Given the description of an element on the screen output the (x, y) to click on. 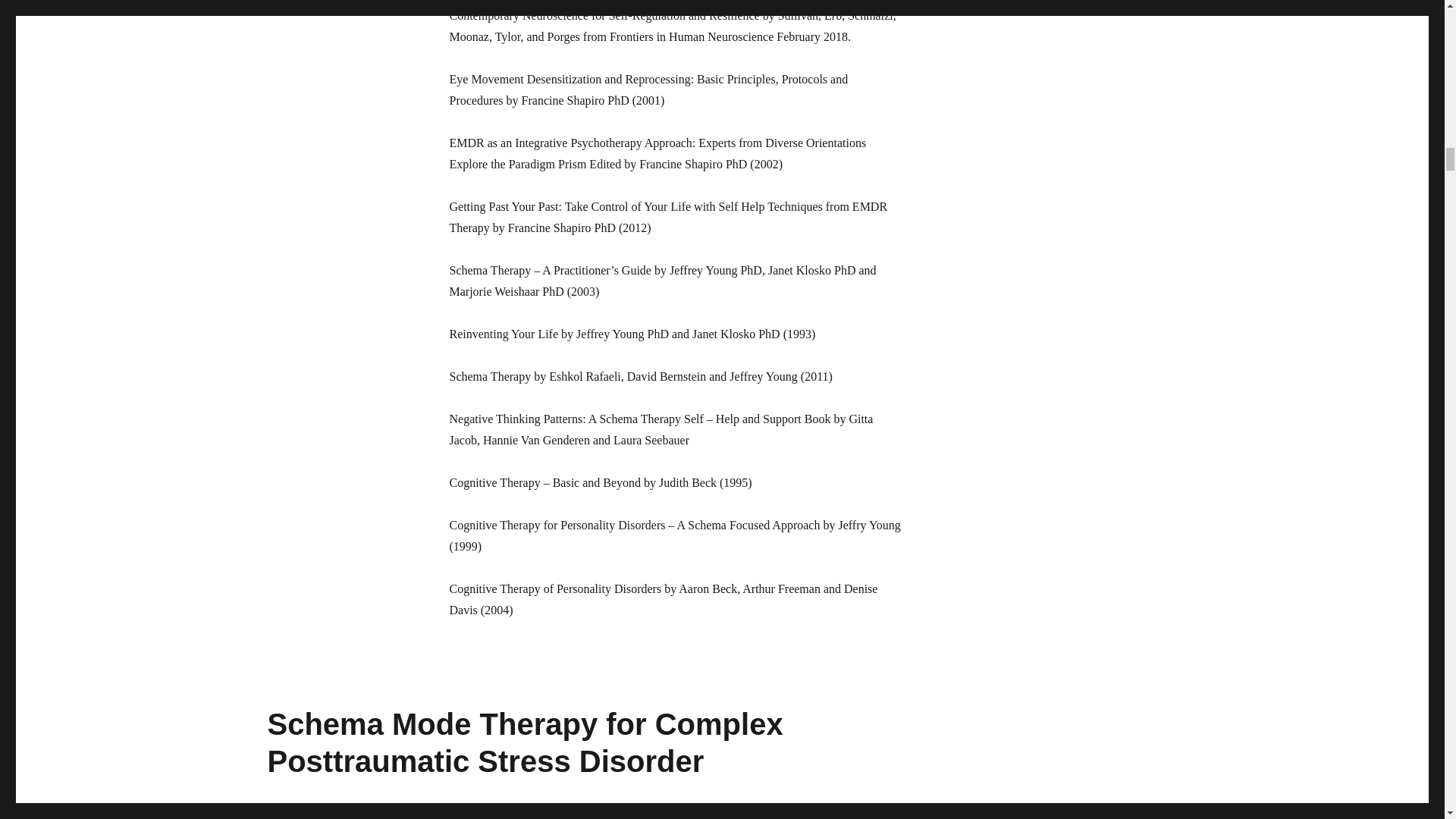
June 7, 2020 (294, 816)
